Given the description of an element on the screen output the (x, y) to click on. 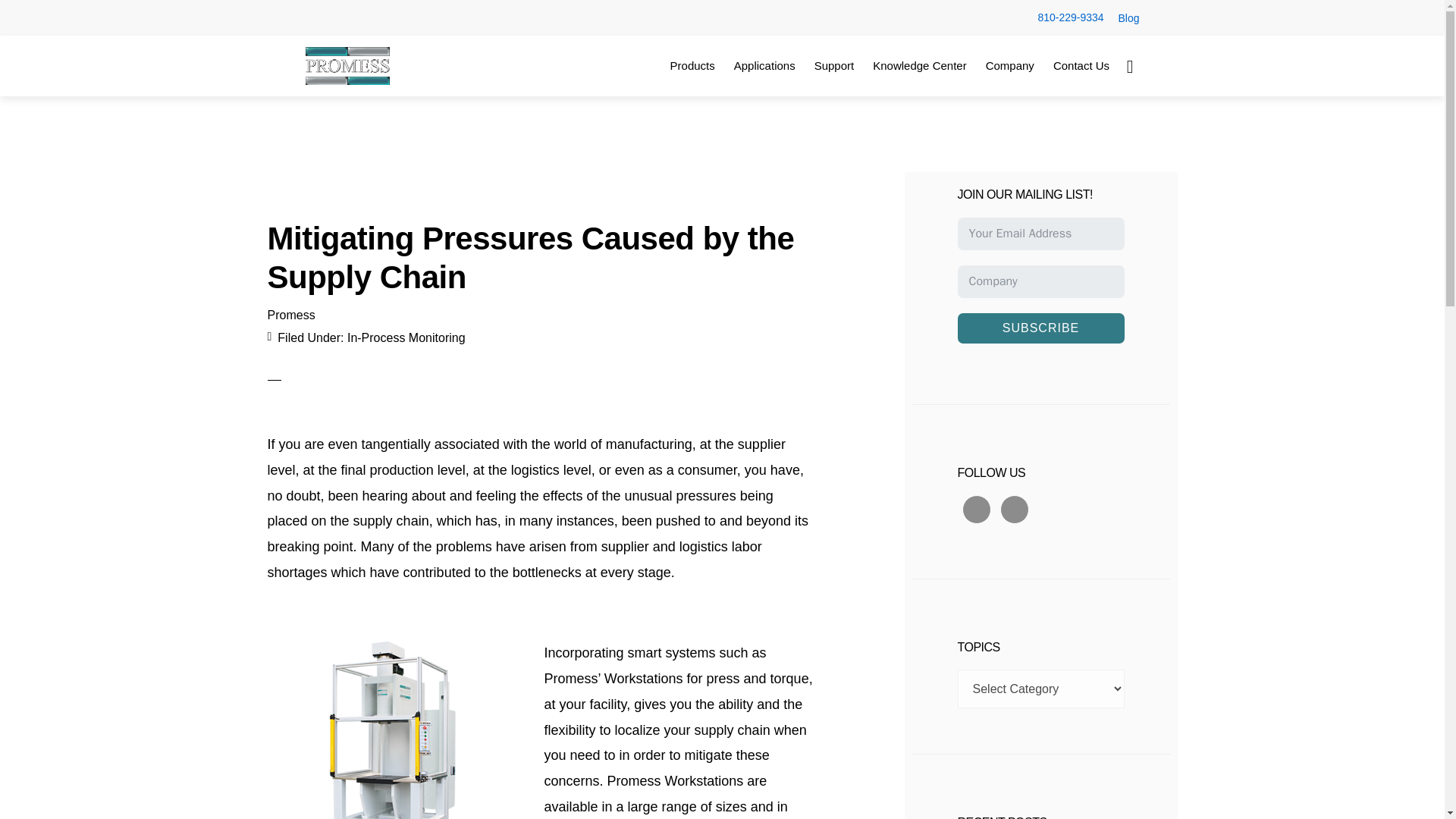
Blog (1122, 18)
810-229-9334 (1069, 17)
Applications (764, 65)
Products (692, 65)
